Given the description of an element on the screen output the (x, y) to click on. 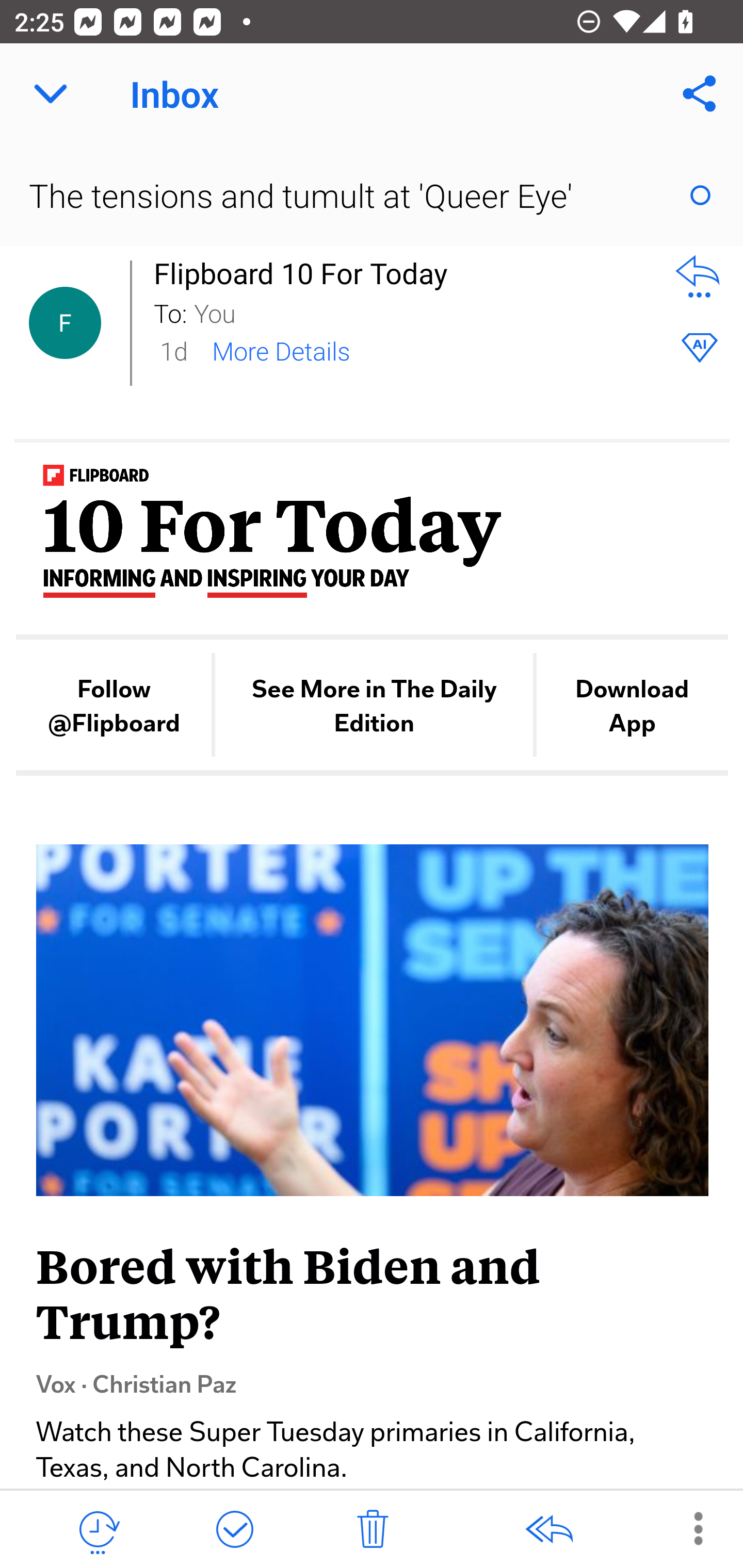
Navigate up (50, 93)
Share (699, 93)
Mark as Read (699, 194)
Flipboard 10 For Today (305, 273)
Contact Details (64, 322)
More Details (280, 349)
Follow @Flipboard Follow  @Flipboard (114, 706)
See More in The Daily Edition (374, 706)
Download App (631, 706)
More Options (687, 1528)
Snooze (97, 1529)
Mark as Done (234, 1529)
Delete (372, 1529)
Reply All (548, 1529)
